Given the description of an element on the screen output the (x, y) to click on. 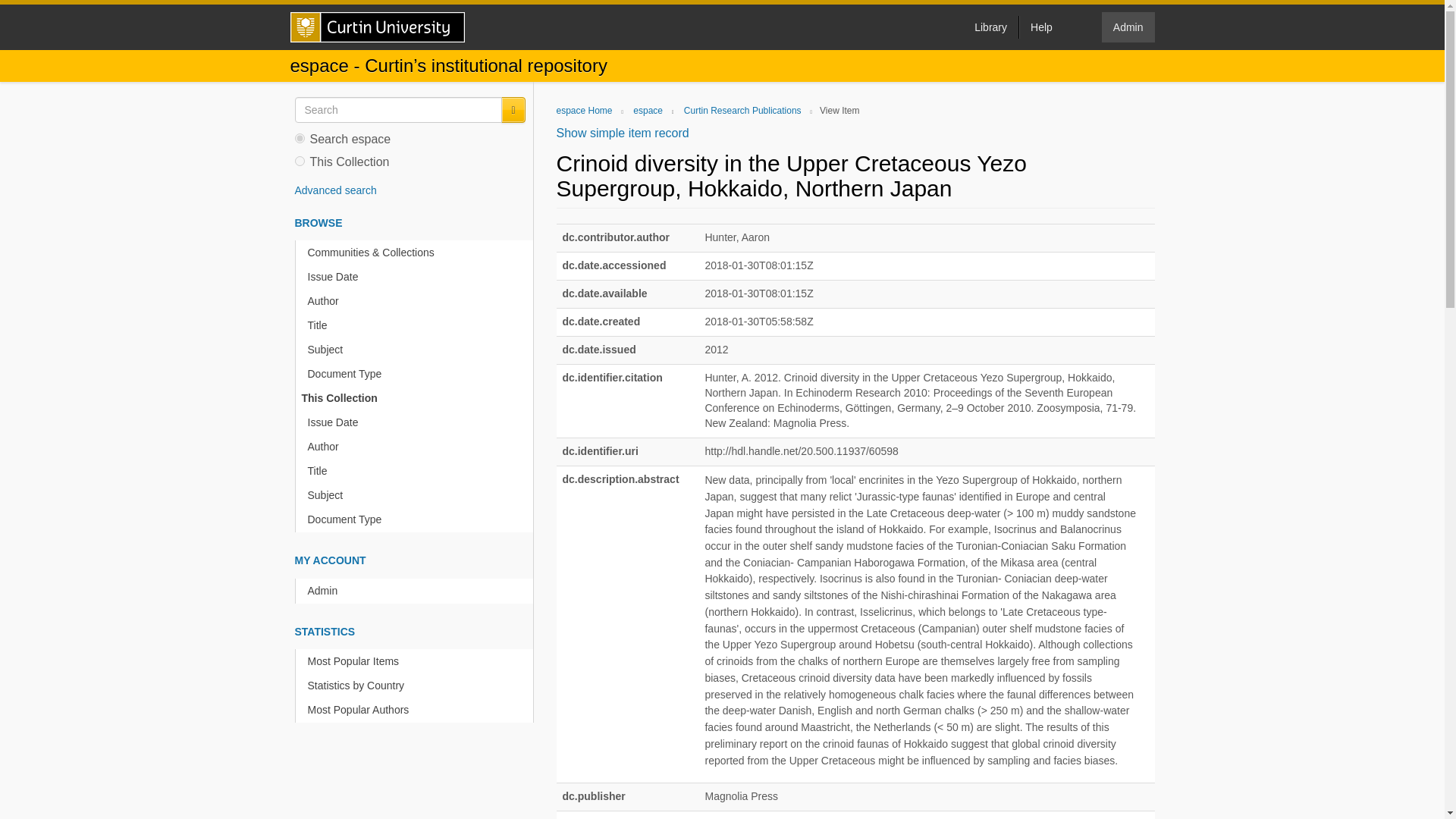
Author (416, 446)
Admin (416, 590)
Document Type (416, 373)
Statistics by Country (416, 685)
espace (647, 110)
Show simple item record (622, 132)
Issue Date (416, 422)
Most Popular Items (416, 661)
Subject (416, 349)
Subject (416, 495)
